Given the description of an element on the screen output the (x, y) to click on. 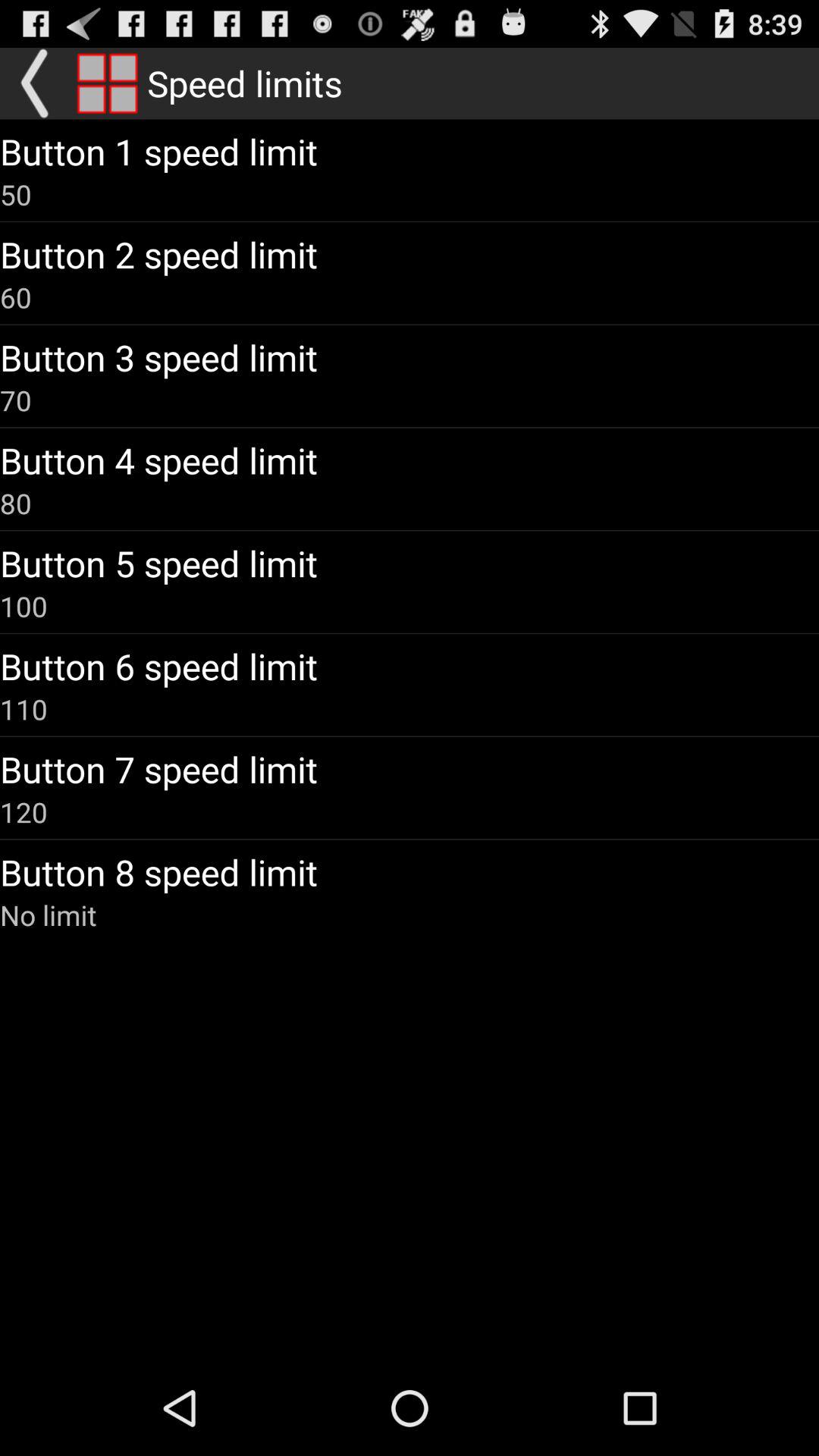
jump until the 80 app (15, 503)
